Given the description of an element on the screen output the (x, y) to click on. 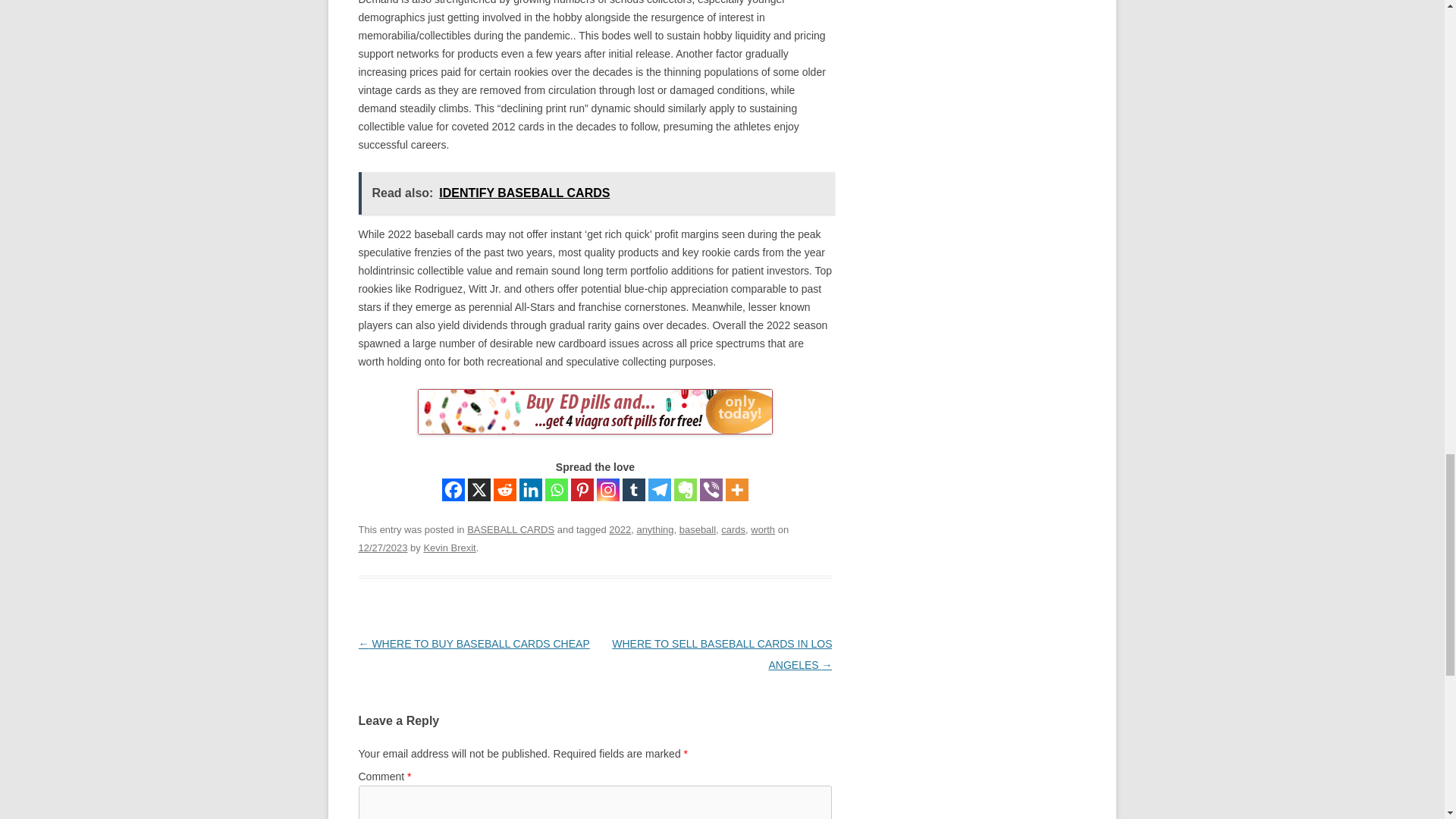
Tumblr (634, 489)
BASEBALL CARDS (510, 529)
Kevin Brexit (449, 547)
Telegram (659, 489)
Reddit (504, 489)
Evernote (685, 489)
worth (762, 529)
baseball (697, 529)
Whatsapp (555, 489)
More (736, 489)
2:48 AM (382, 547)
Read also:  IDENTIFY BASEBALL CARDS (596, 192)
cards (732, 529)
Viber (711, 489)
Instagram (608, 489)
